Given the description of an element on the screen output the (x, y) to click on. 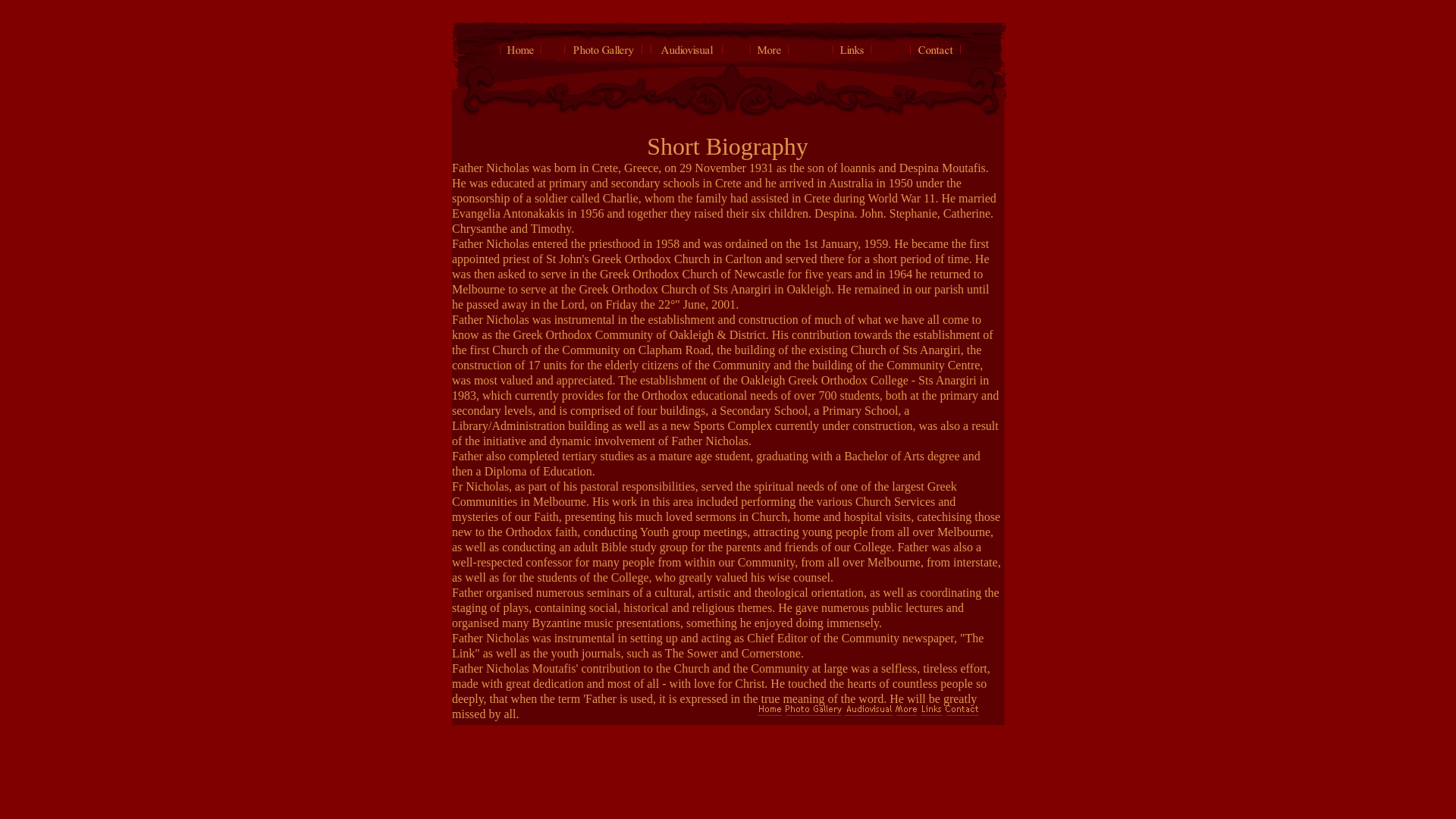
More (907, 716)
Audiovisual (686, 55)
Photo Gallery (814, 716)
Audiovisual (869, 716)
Links (851, 55)
Photo Gallery (603, 55)
Contact (934, 55)
More (769, 55)
Home (770, 716)
Home (520, 55)
